Given the description of an element on the screen output the (x, y) to click on. 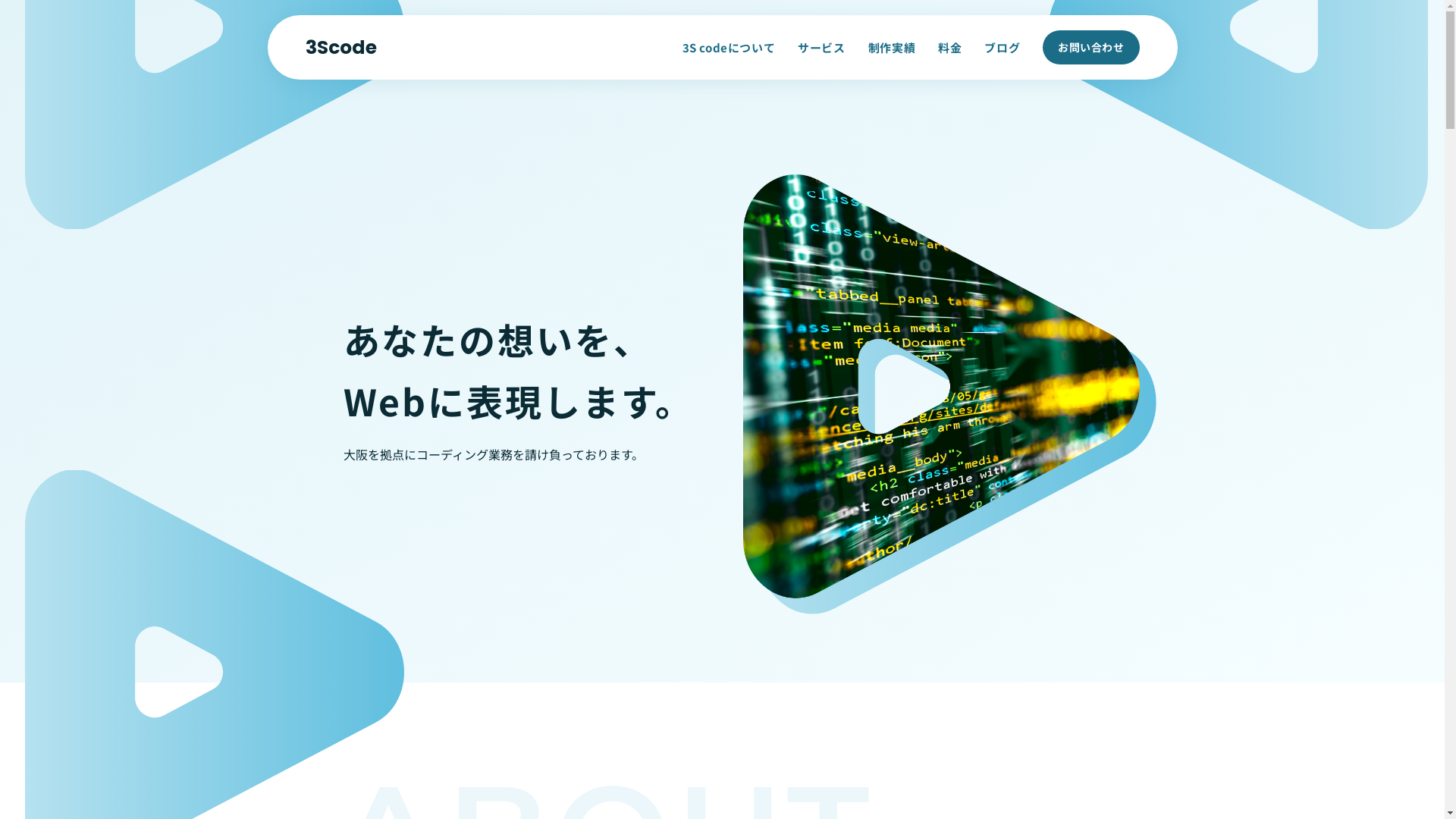
3Scode Element type: text (340, 47)
